Given the description of an element on the screen output the (x, y) to click on. 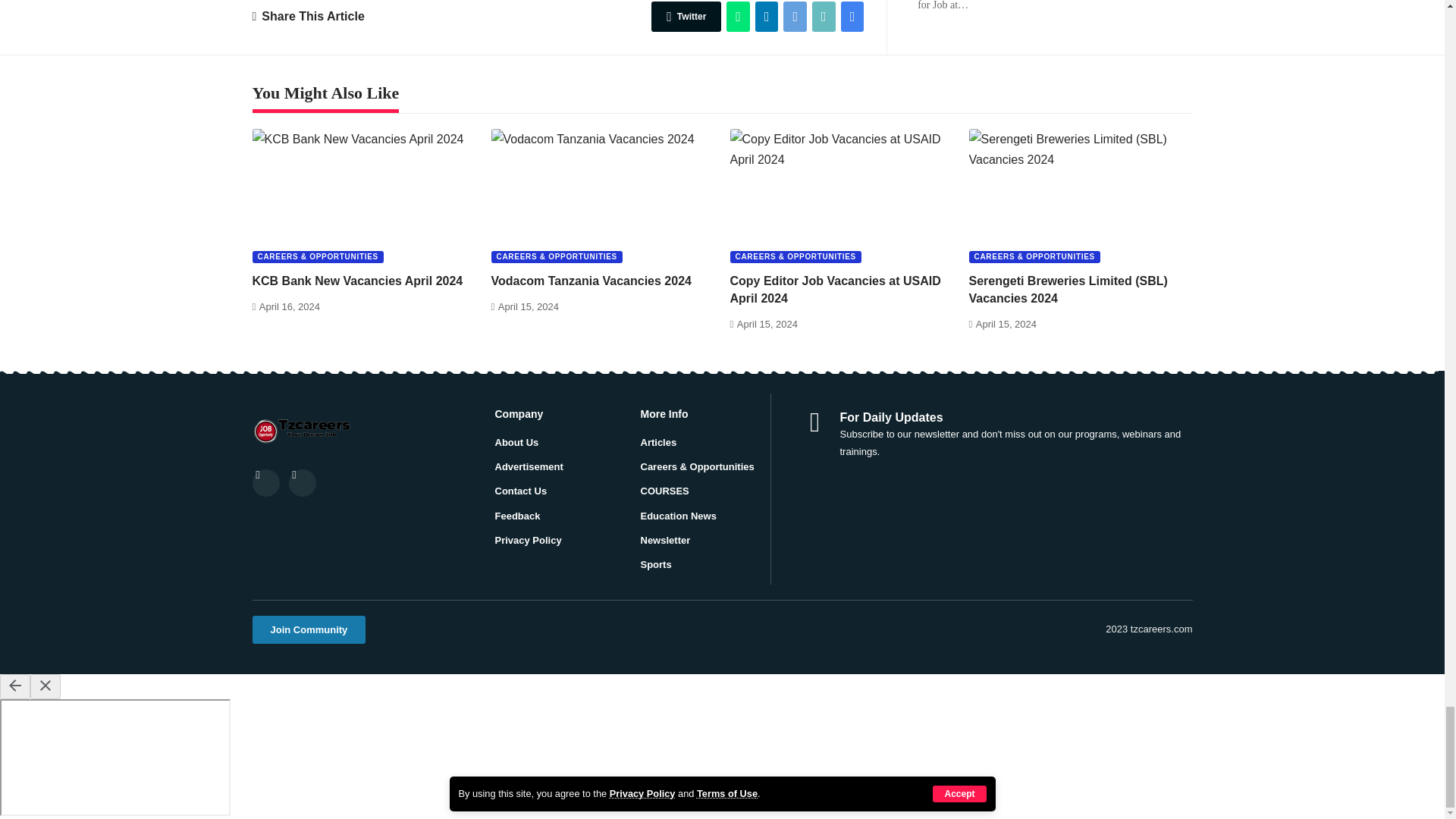
KCB Bank New Vacancies April 2024 (363, 195)
Copy Editor Job  Vacancies at USAID April 2024 (841, 195)
Vodacom Tanzania Vacancies 2024 (603, 195)
